Given the description of an element on the screen output the (x, y) to click on. 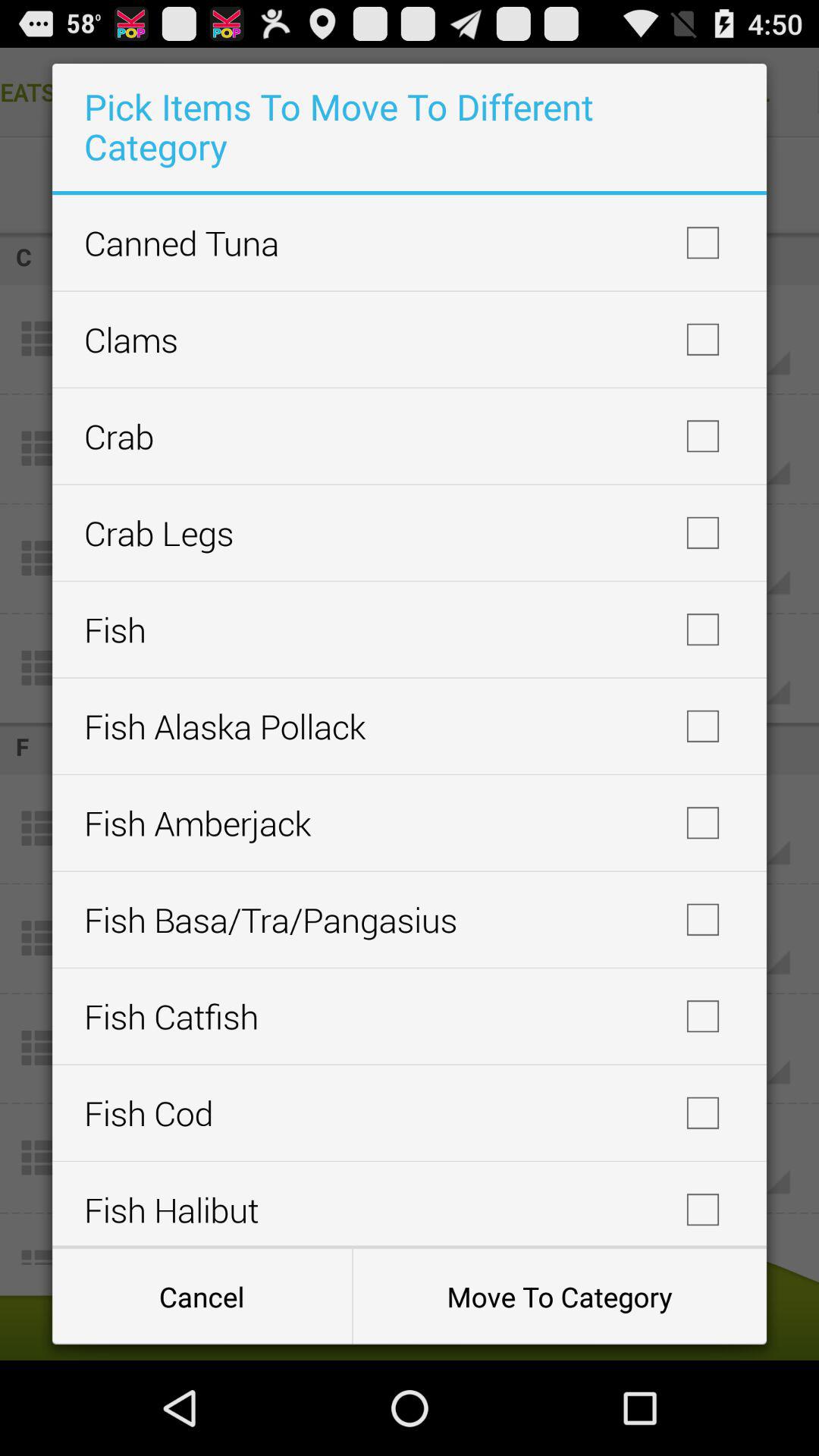
select icon next to move to category (202, 1296)
